Given the description of an element on the screen output the (x, y) to click on. 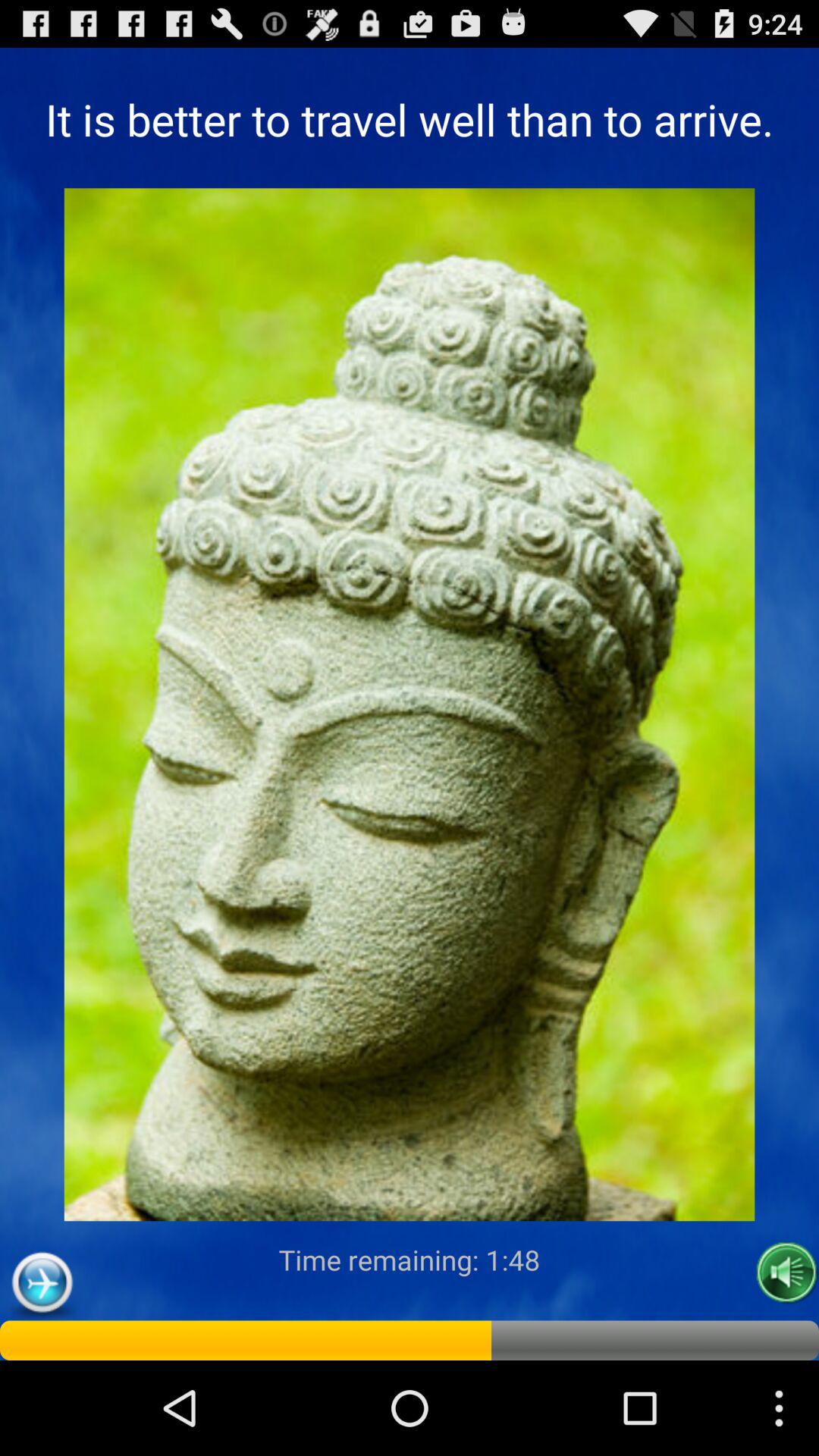
turn on icon at the bottom right corner (787, 1272)
